Given the description of an element on the screen output the (x, y) to click on. 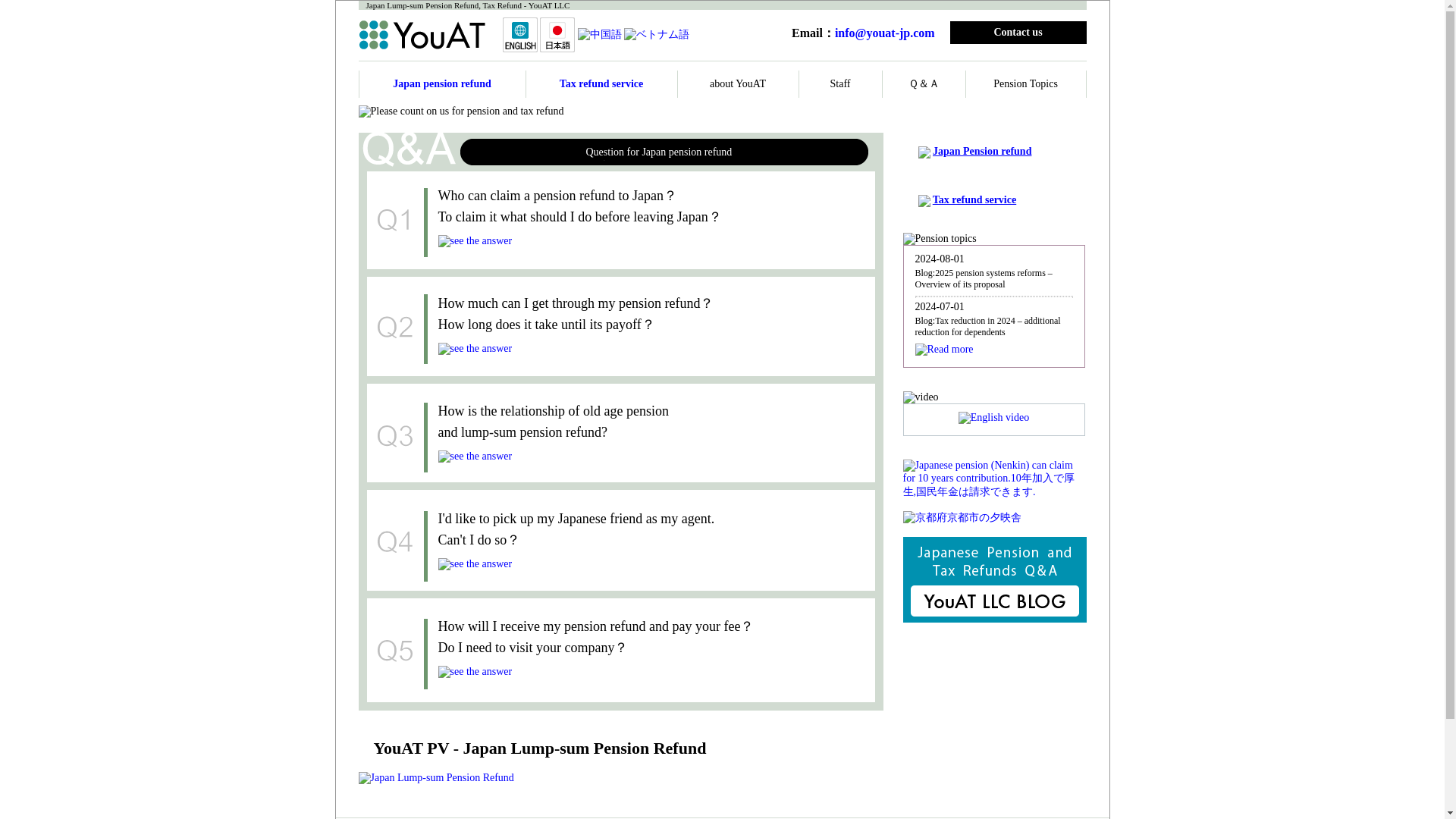
Tax refund service (601, 83)
about YouAT (737, 83)
Japan pension refund (442, 83)
English video (993, 416)
Tax refund service (974, 199)
Pension Topics (1025, 83)
Staff (839, 83)
Contact us (1017, 31)
Japan Pension refund (981, 151)
